Given the description of an element on the screen output the (x, y) to click on. 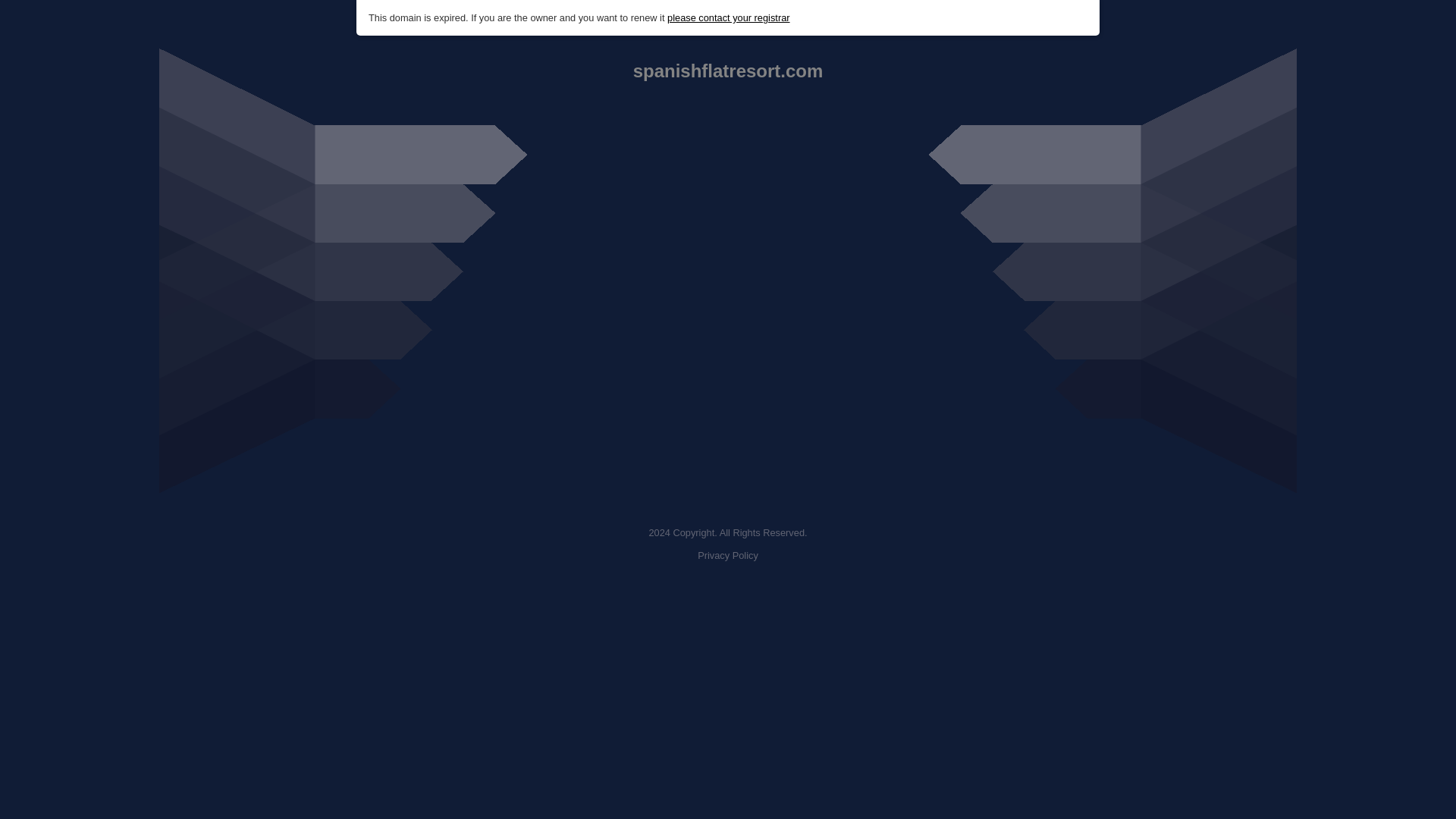
please contact your registrar (727, 17)
Privacy Policy (727, 555)
